Given the description of an element on the screen output the (x, y) to click on. 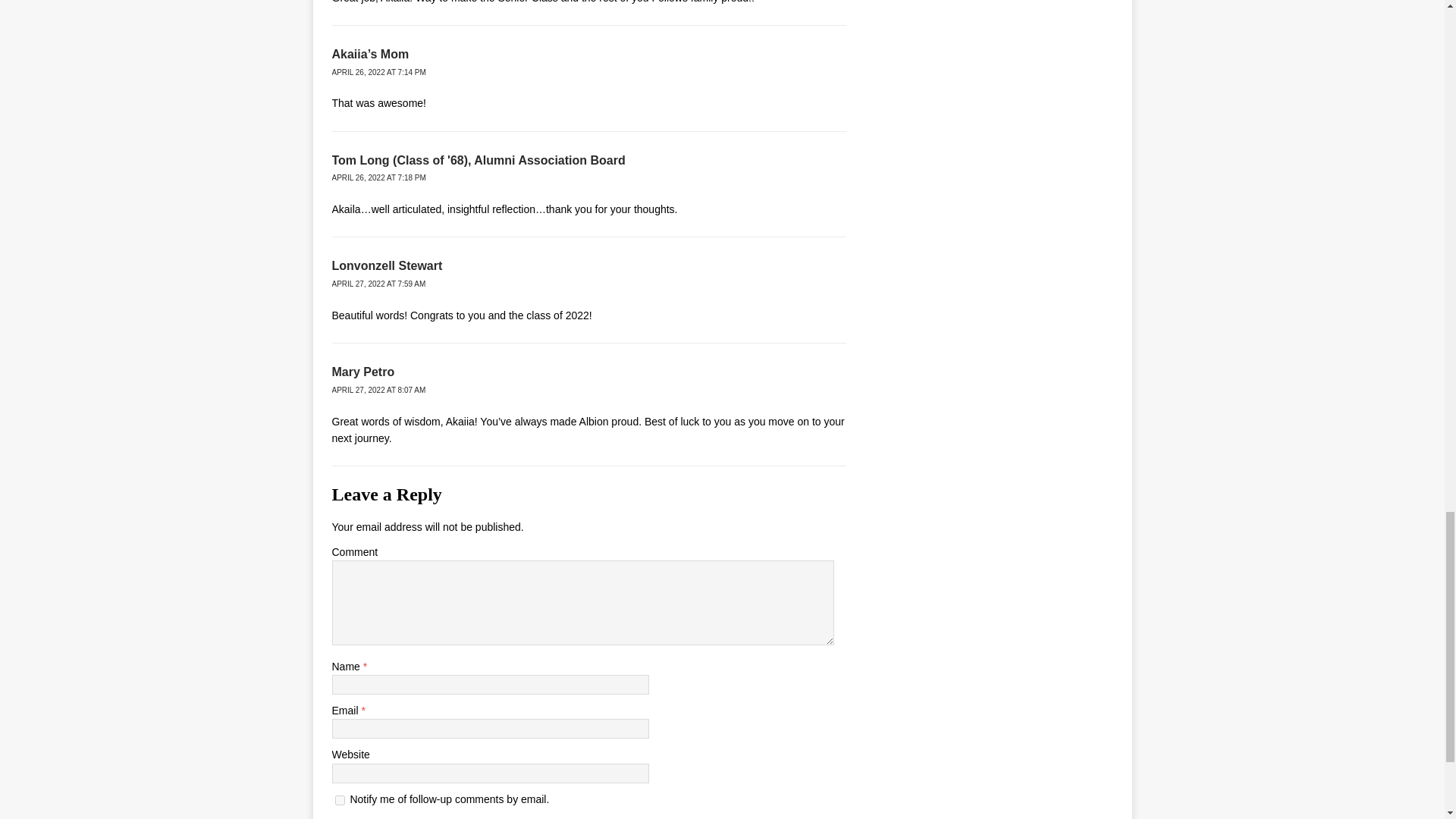
APRIL 26, 2022 AT 7:18 PM (378, 177)
APRIL 27, 2022 AT 7:59 AM (378, 284)
subscribe (339, 799)
APRIL 27, 2022 AT 8:07 AM (378, 389)
APRIL 26, 2022 AT 7:14 PM (378, 71)
